Given the description of an element on the screen output the (x, y) to click on. 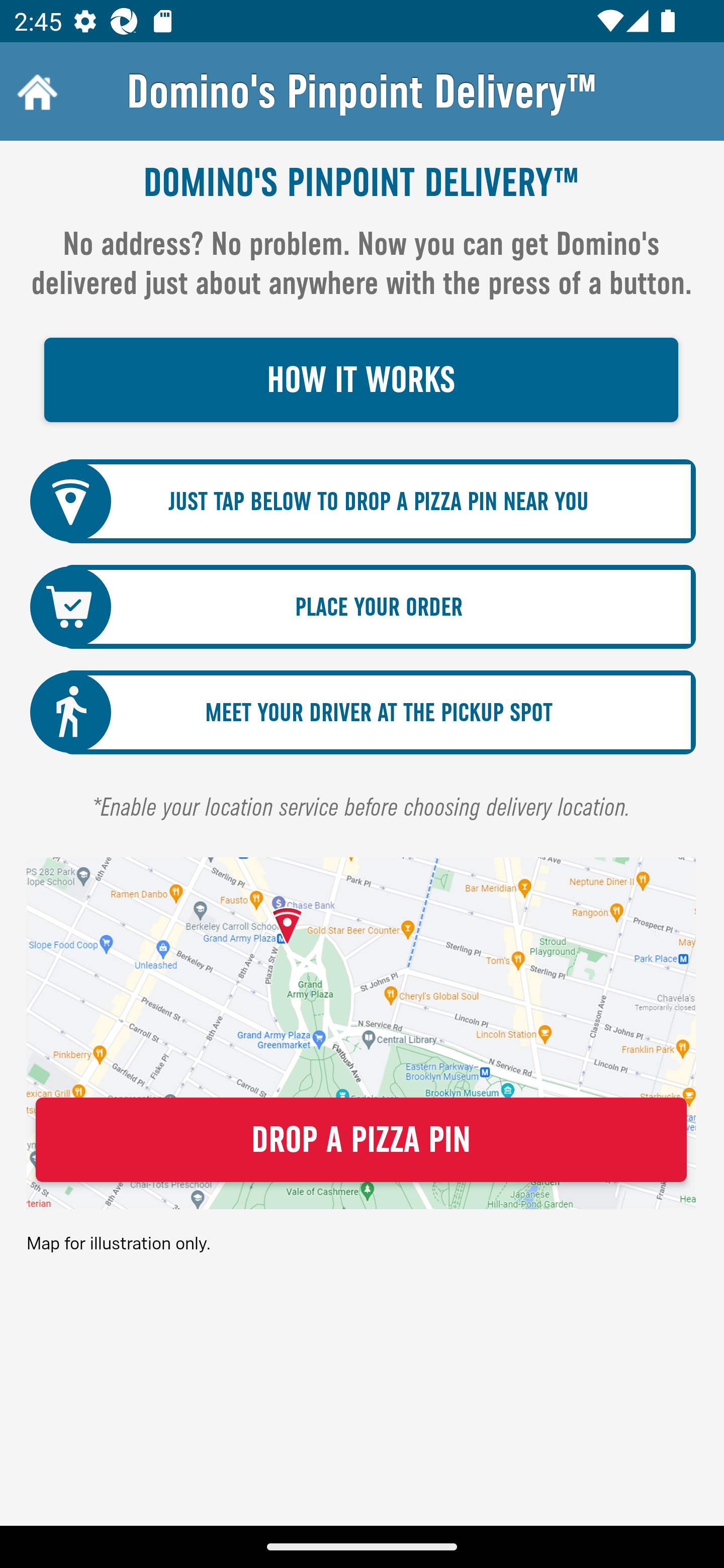
Home (35, 91)
DROP A PIZZA PIN (361, 1139)
